Given the description of an element on the screen output the (x, y) to click on. 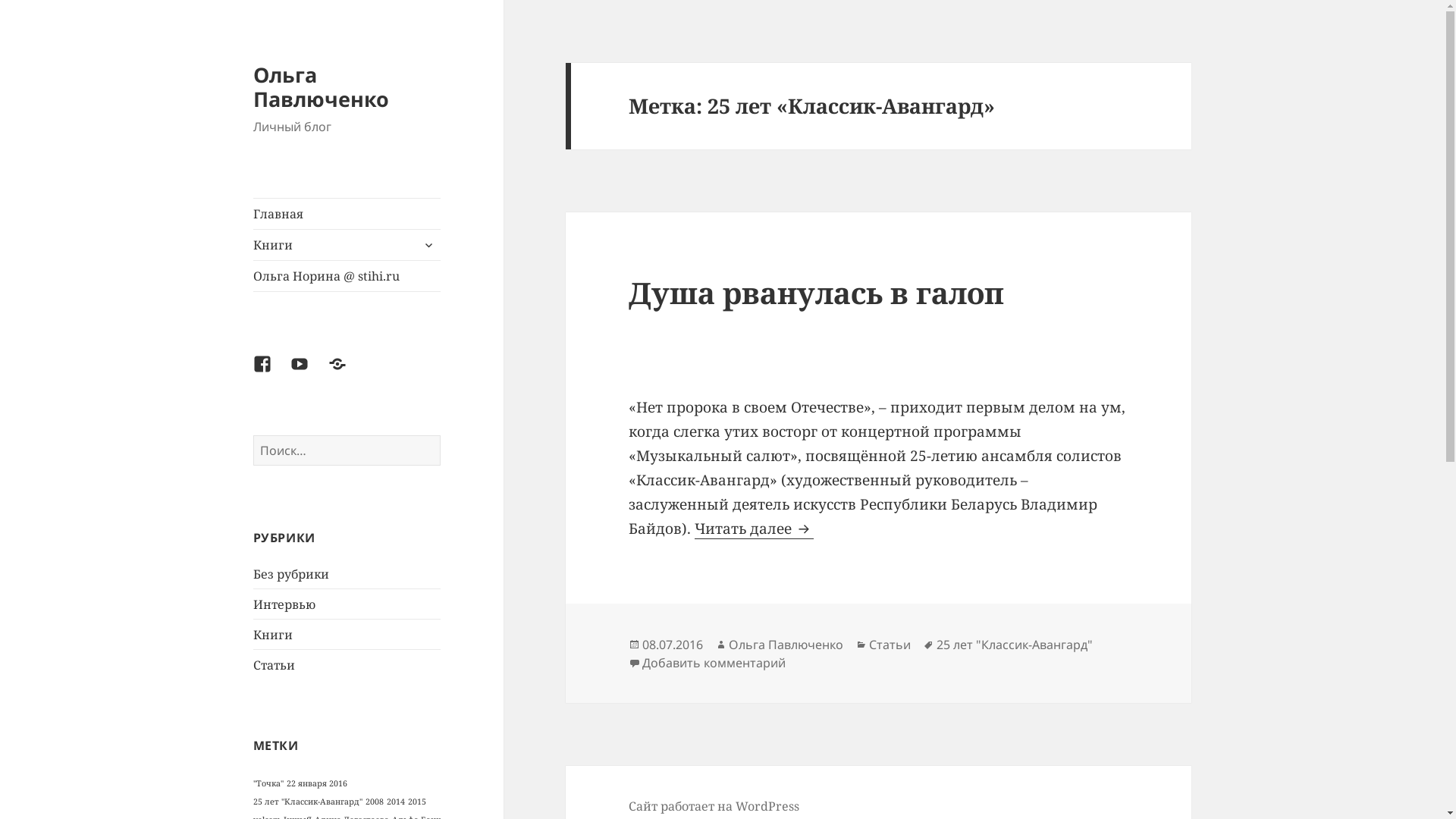
Facebook Element type: text (271, 372)
Youtube Element type: text (308, 372)
2008 Element type: text (374, 801)
2014 Element type: text (395, 801)
2015 Element type: text (416, 801)
08.07.2016 Element type: text (672, 644)
